Given the description of an element on the screen output the (x, y) to click on. 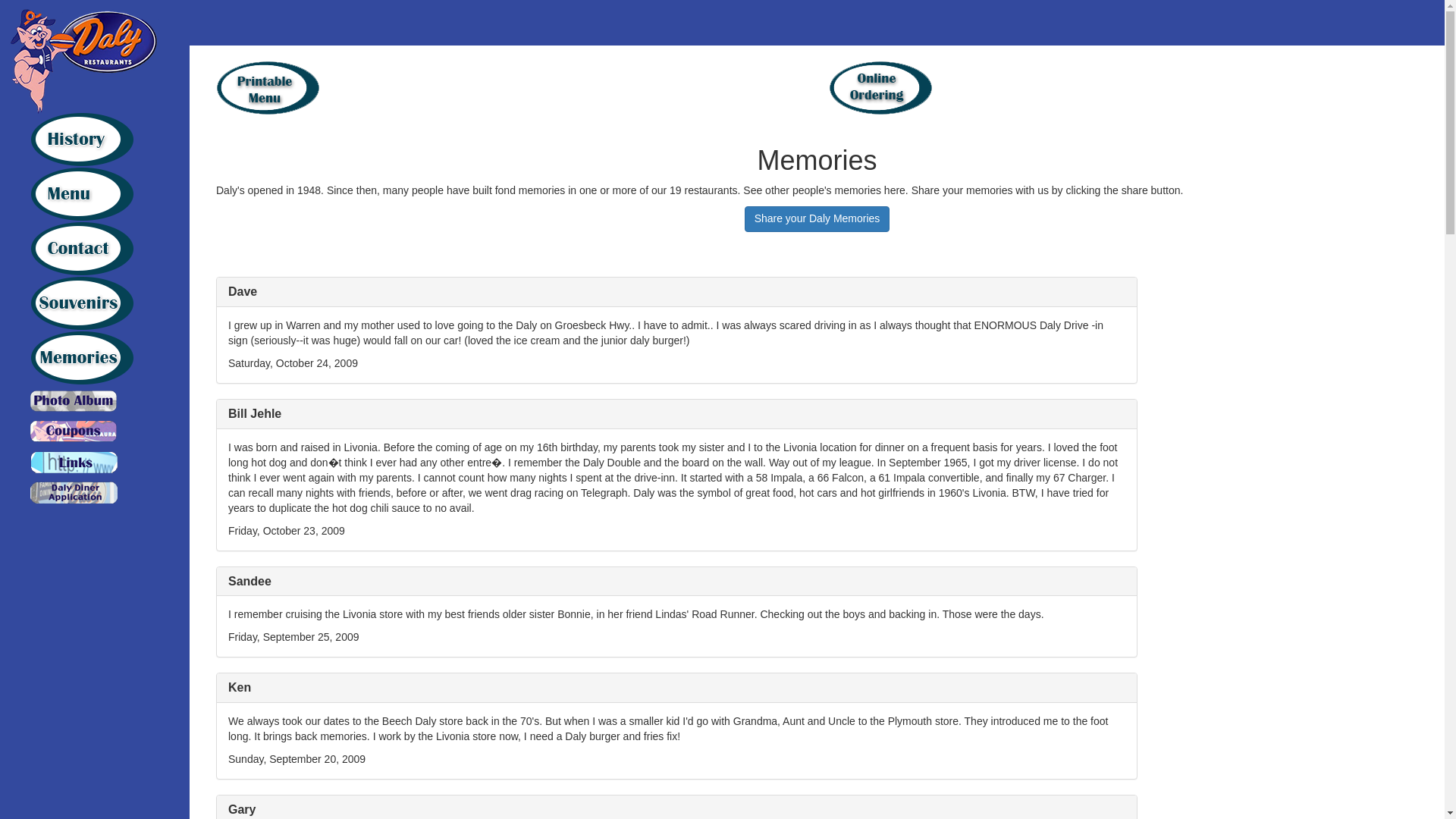
Share your Daly Memories (816, 218)
